Given the description of an element on the screen output the (x, y) to click on. 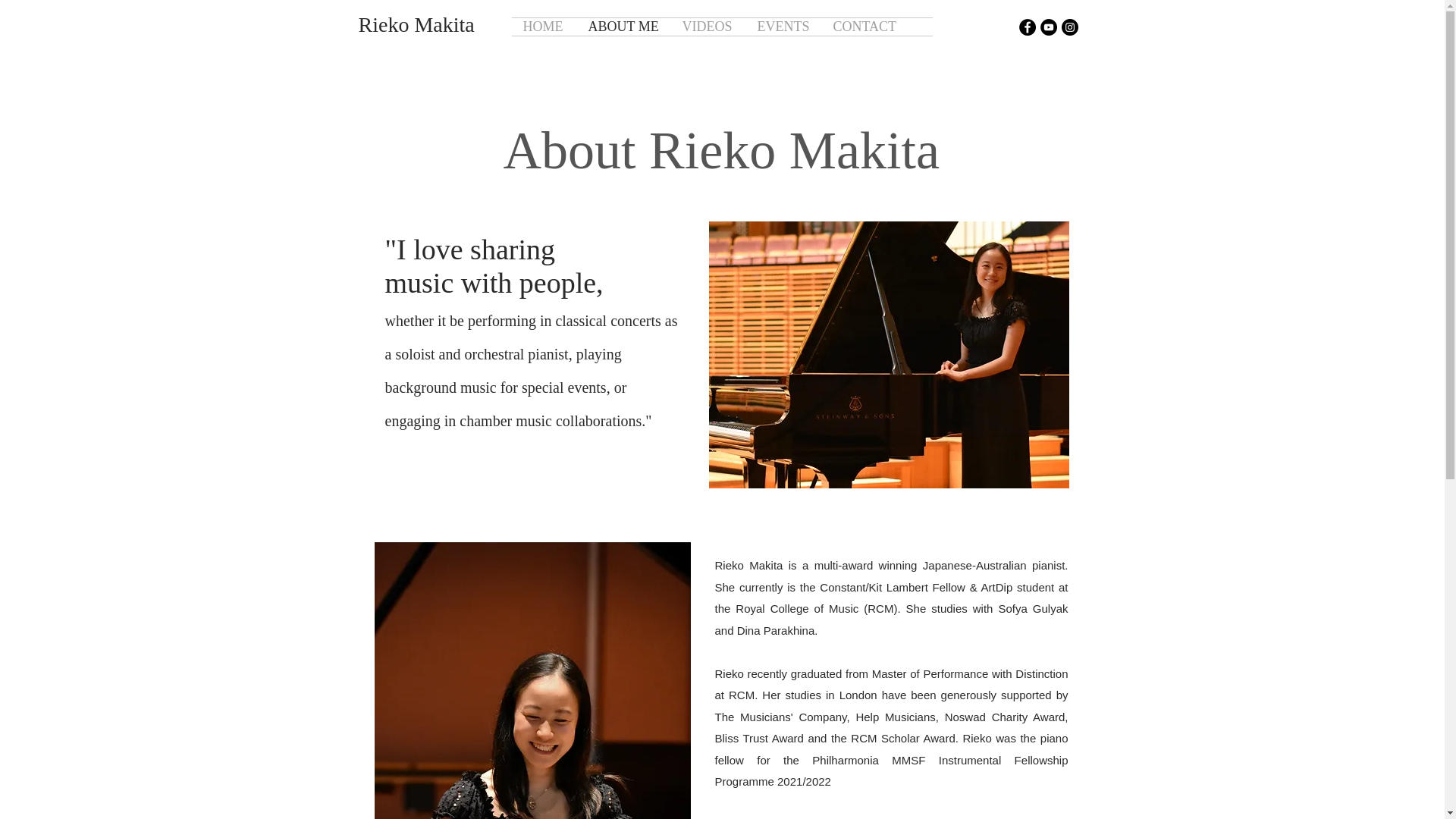
VIDEOS (707, 27)
HOME (543, 27)
EVENTS (783, 27)
CONTACT (866, 27)
ABOUT ME (622, 27)
